Given the description of an element on the screen output the (x, y) to click on. 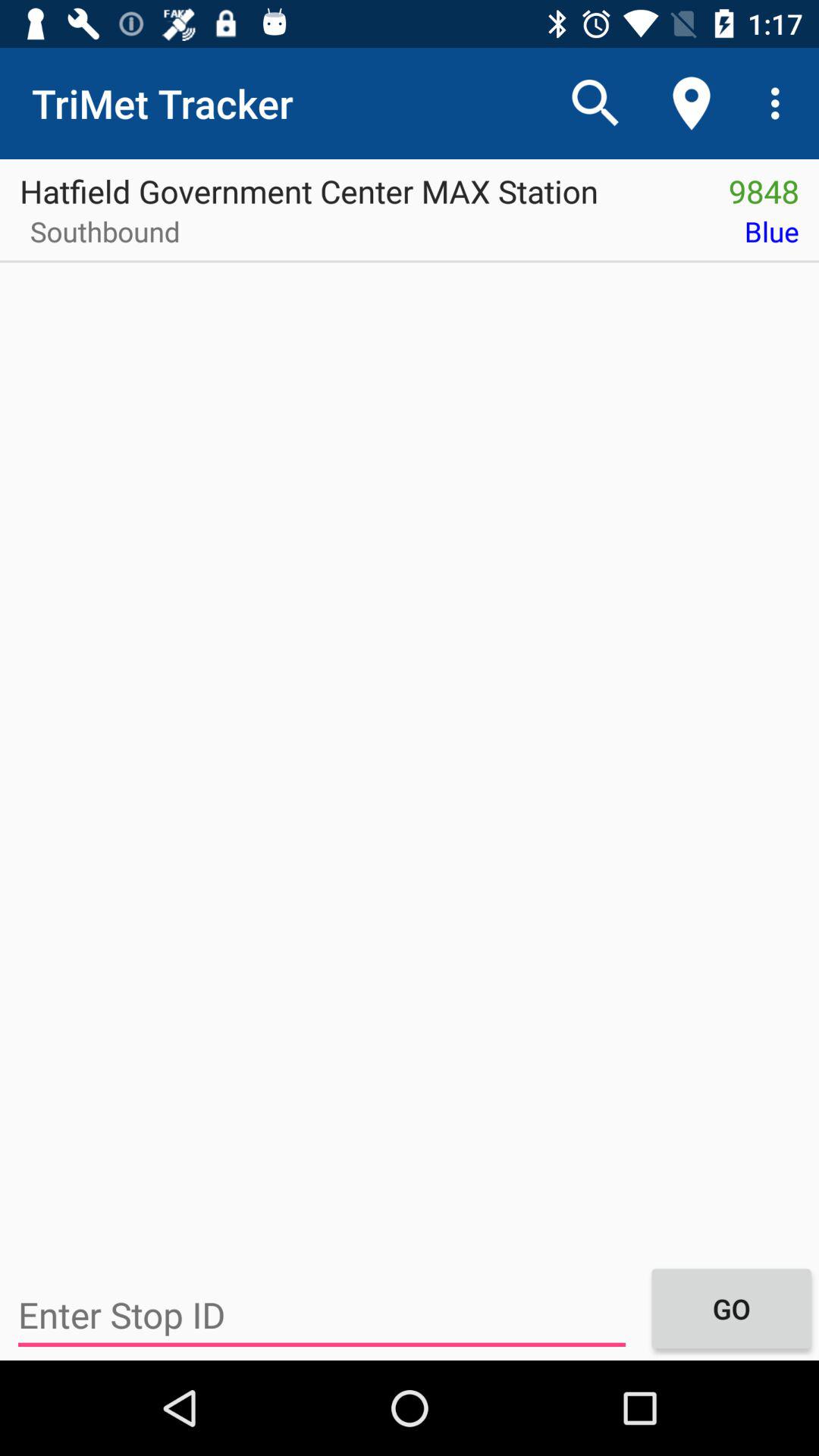
press icon next to the 9848 item (354, 185)
